Given the description of an element on the screen output the (x, y) to click on. 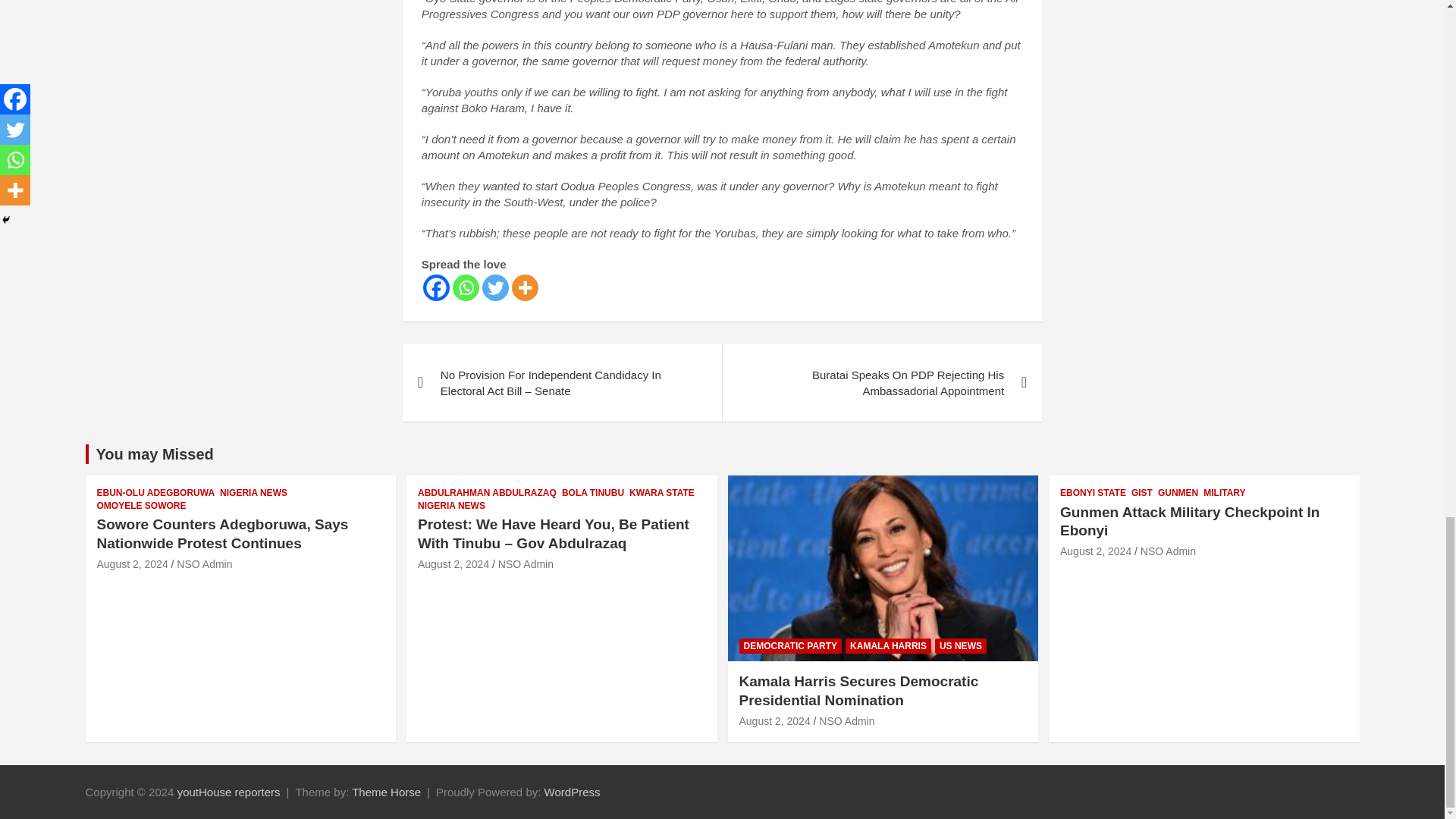
You may Missed (154, 453)
Whatsapp (465, 287)
Twitter (494, 287)
August 2, 2024 (132, 563)
EBUN-OLU ADEGBORUWA (156, 492)
ABDULRAHMAN ABDULRAZAQ (486, 492)
Facebook (436, 287)
Gunmen Attack Military Checkpoint In Ebonyi (1095, 551)
NSO Admin (203, 563)
BOLA TINUBU (593, 492)
OMOYELE SOWORE (141, 505)
More (525, 287)
NIGERIA NEWS (252, 492)
